Given the description of an element on the screen output the (x, y) to click on. 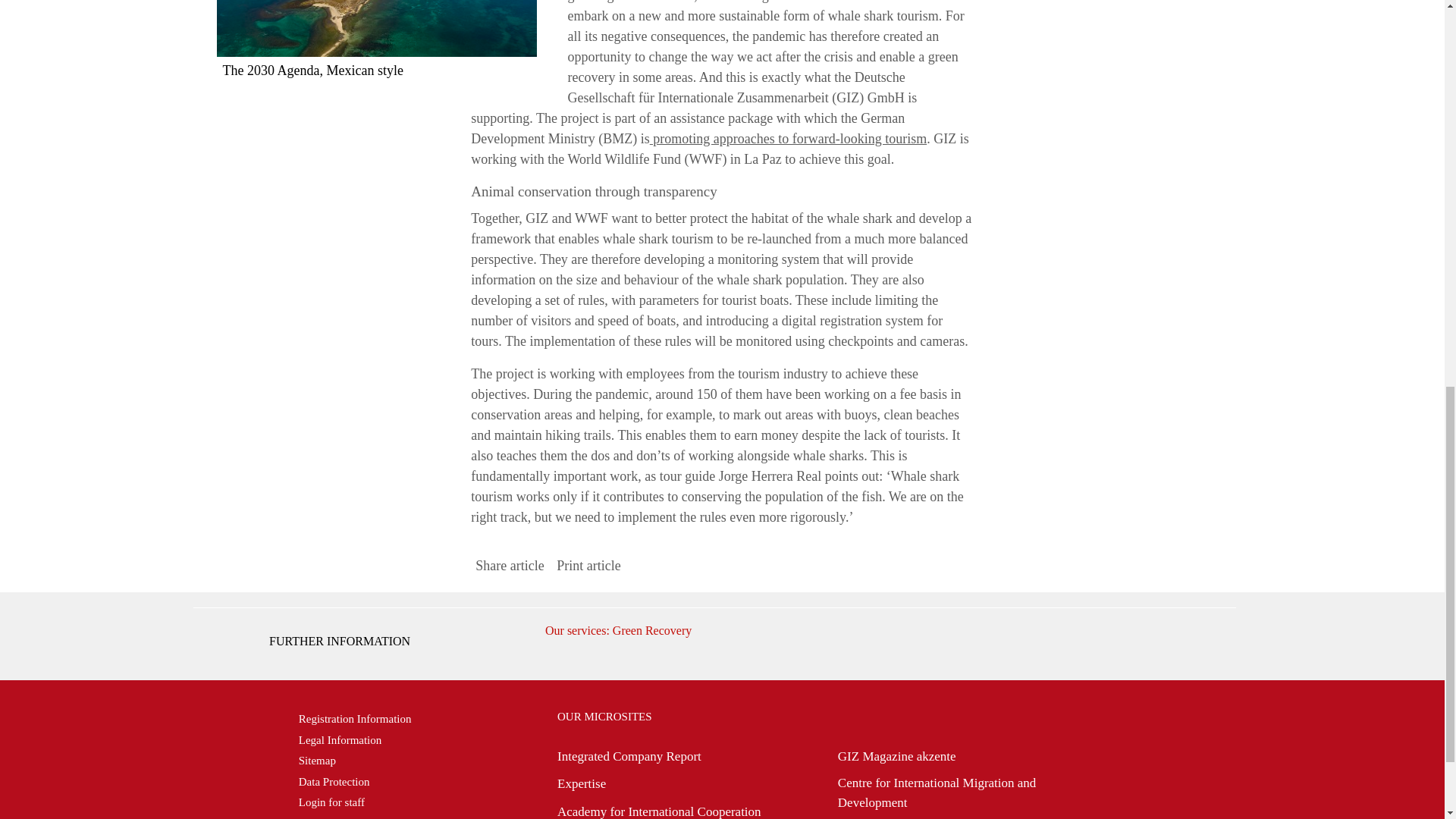
promoting approaches to forward-looking tourism (787, 138)
Print article (587, 566)
Share article (509, 566)
